Given the description of an element on the screen output the (x, y) to click on. 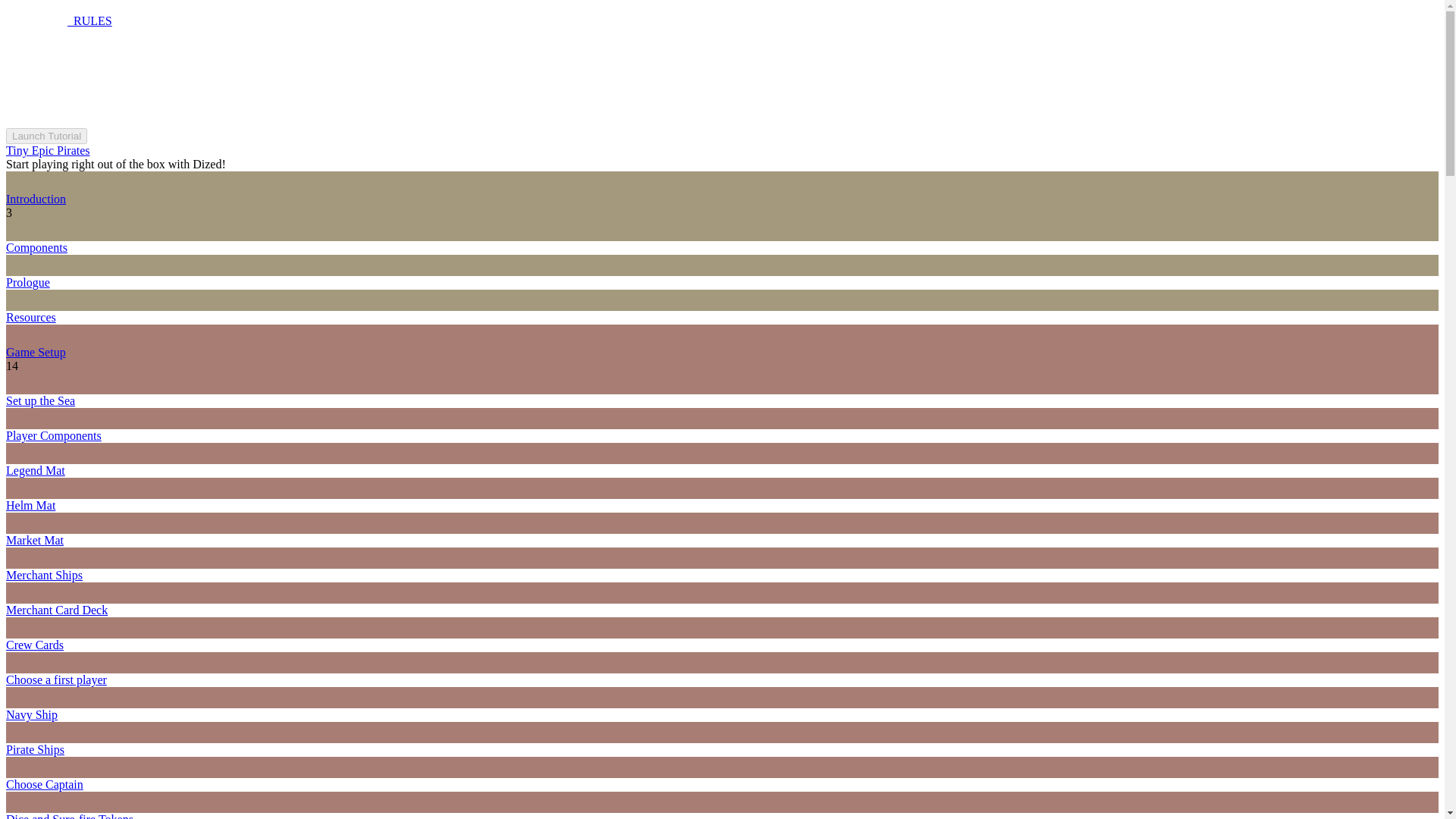
Game Setup (35, 351)
Helm Mat (30, 504)
Prologue (27, 282)
Introduction (35, 198)
Choose a first player (55, 679)
Crew Cards (34, 644)
Tiny Epic Pirates (47, 150)
Dice and Sure-fire Tokens (69, 816)
Components (35, 246)
Choose Captain (43, 784)
